Given the description of an element on the screen output the (x, y) to click on. 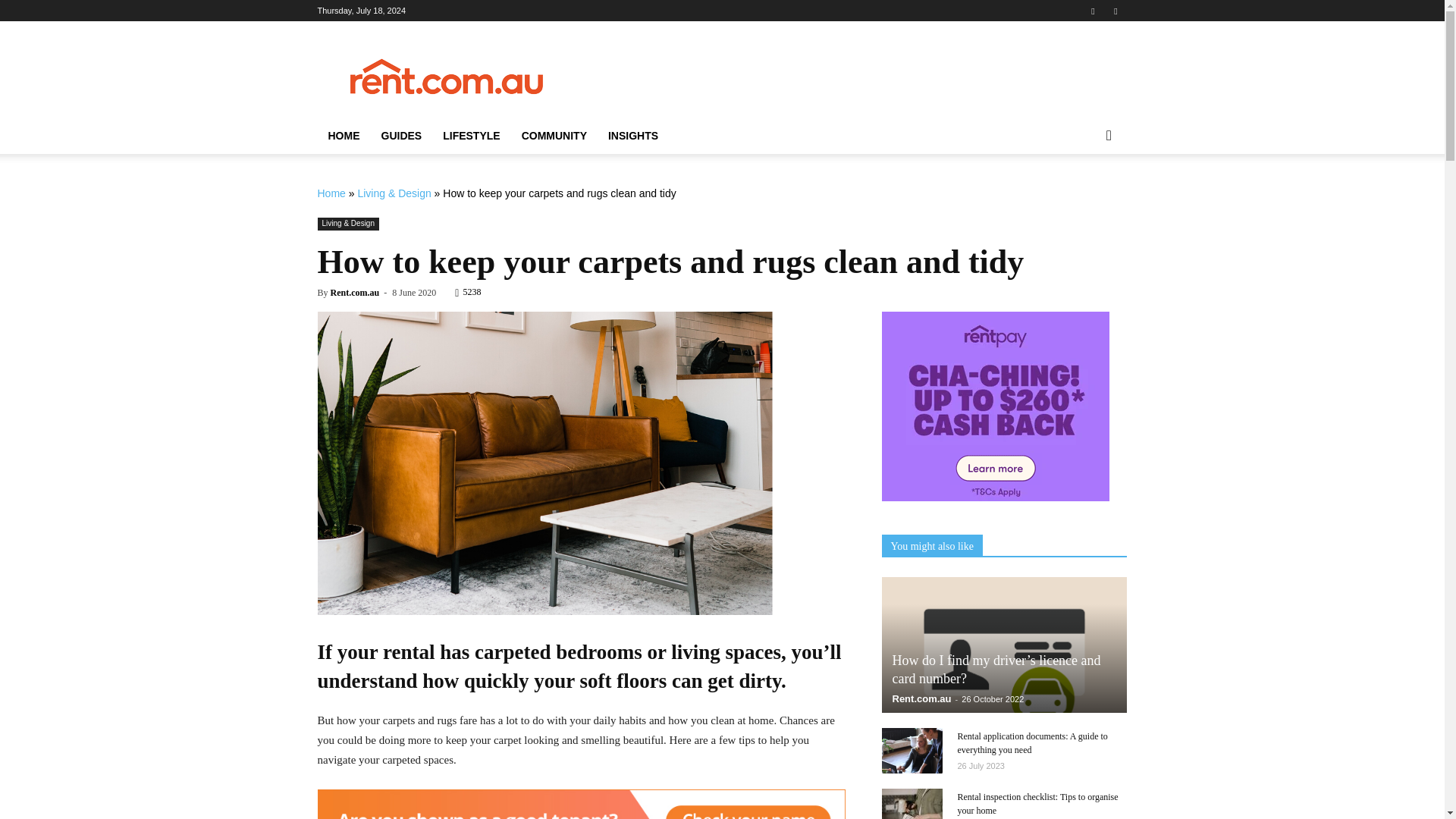
LIFESTYLE (471, 135)
GUIDES (400, 135)
Linkedin (1114, 10)
Facebook (1092, 10)
INSIGHTS (632, 135)
COMMUNITY (553, 135)
HOME (343, 135)
